Given the description of an element on the screen output the (x, y) to click on. 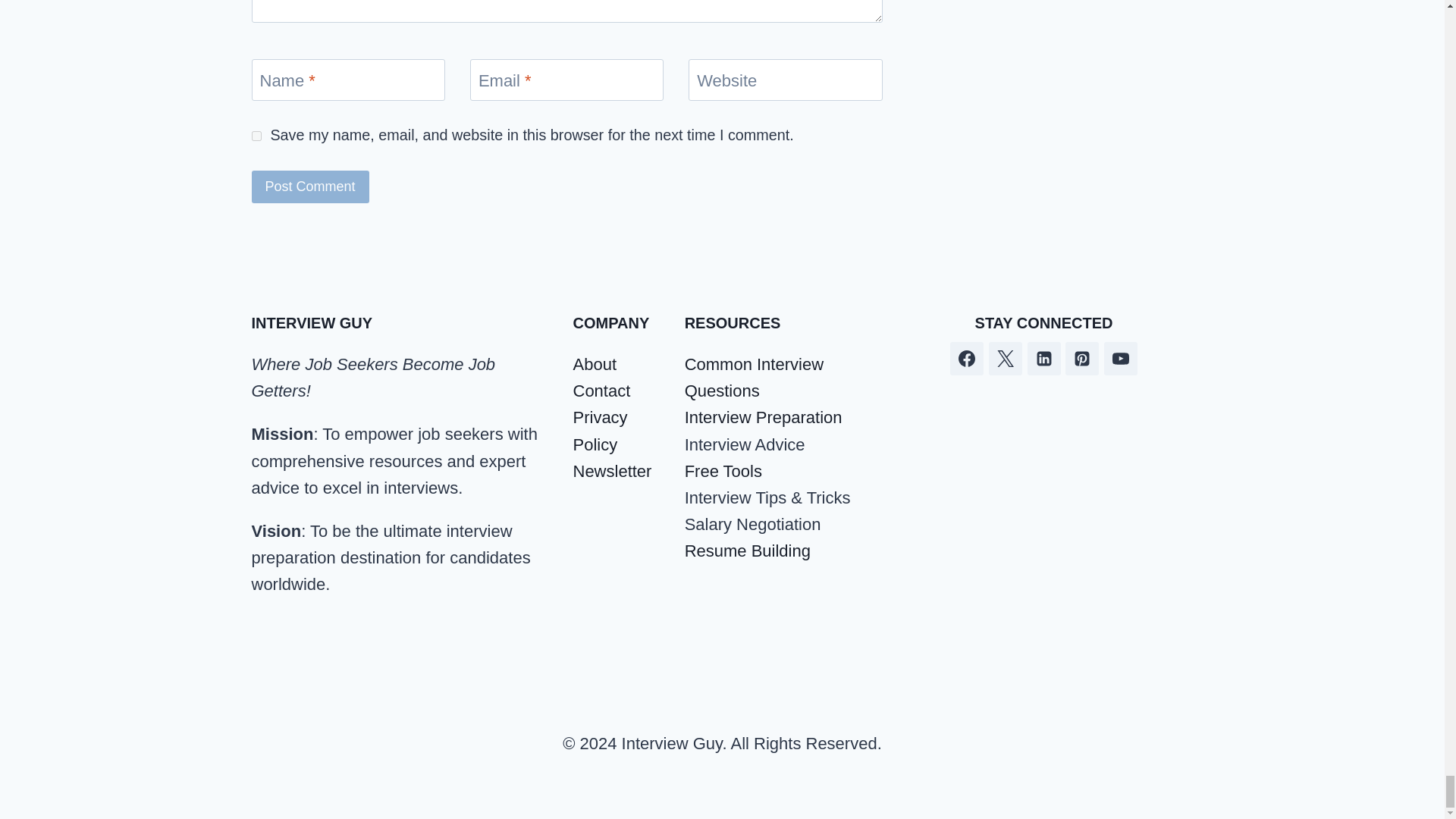
Post Comment (310, 186)
yes (256, 135)
